Given the description of an element on the screen output the (x, y) to click on. 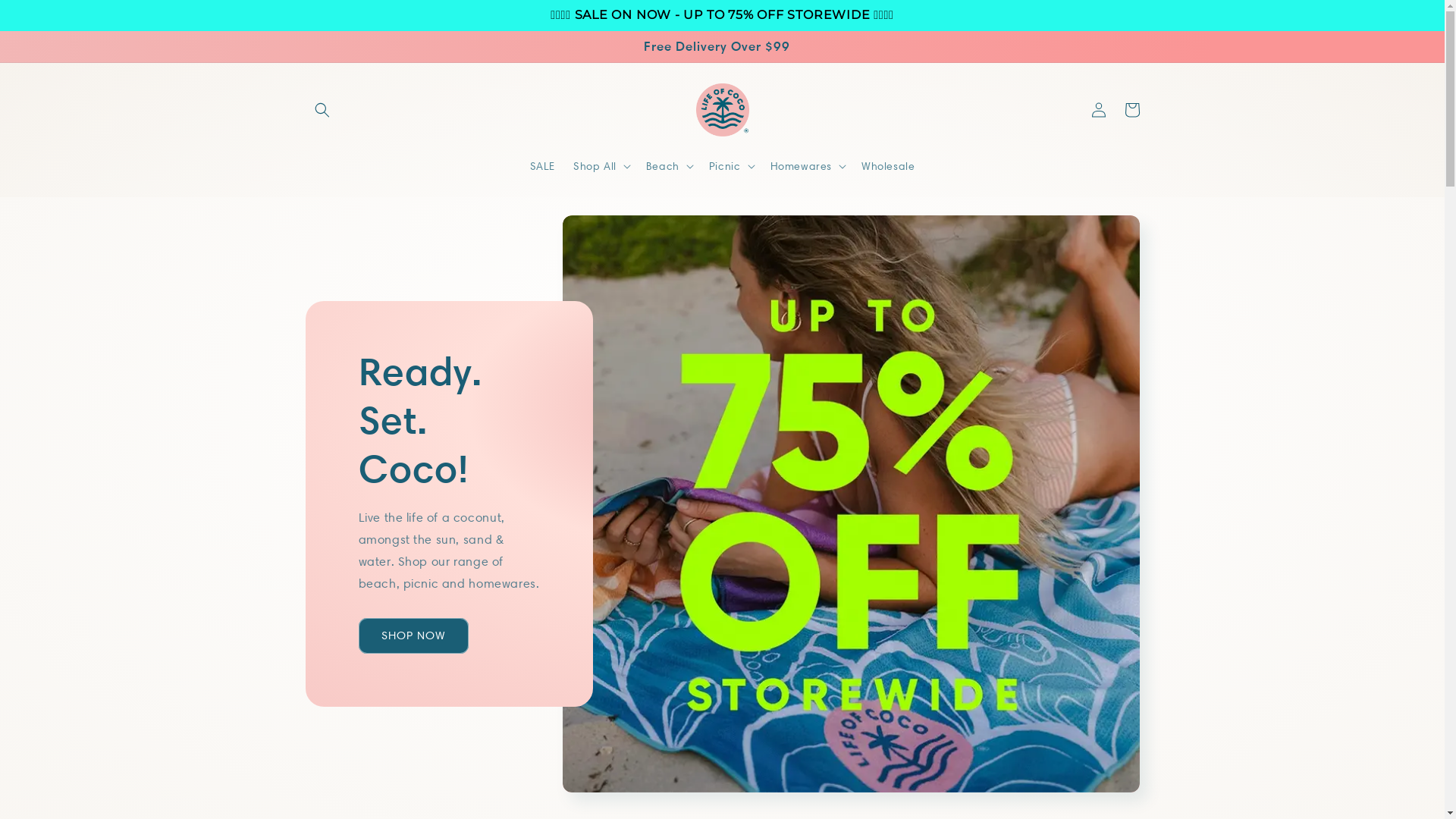
Cart Element type: text (1131, 109)
Wholesale Element type: text (887, 166)
SHOP NOW Element type: text (412, 635)
Log in Element type: text (1097, 109)
SALE Element type: text (542, 166)
